Given the description of an element on the screen output the (x, y) to click on. 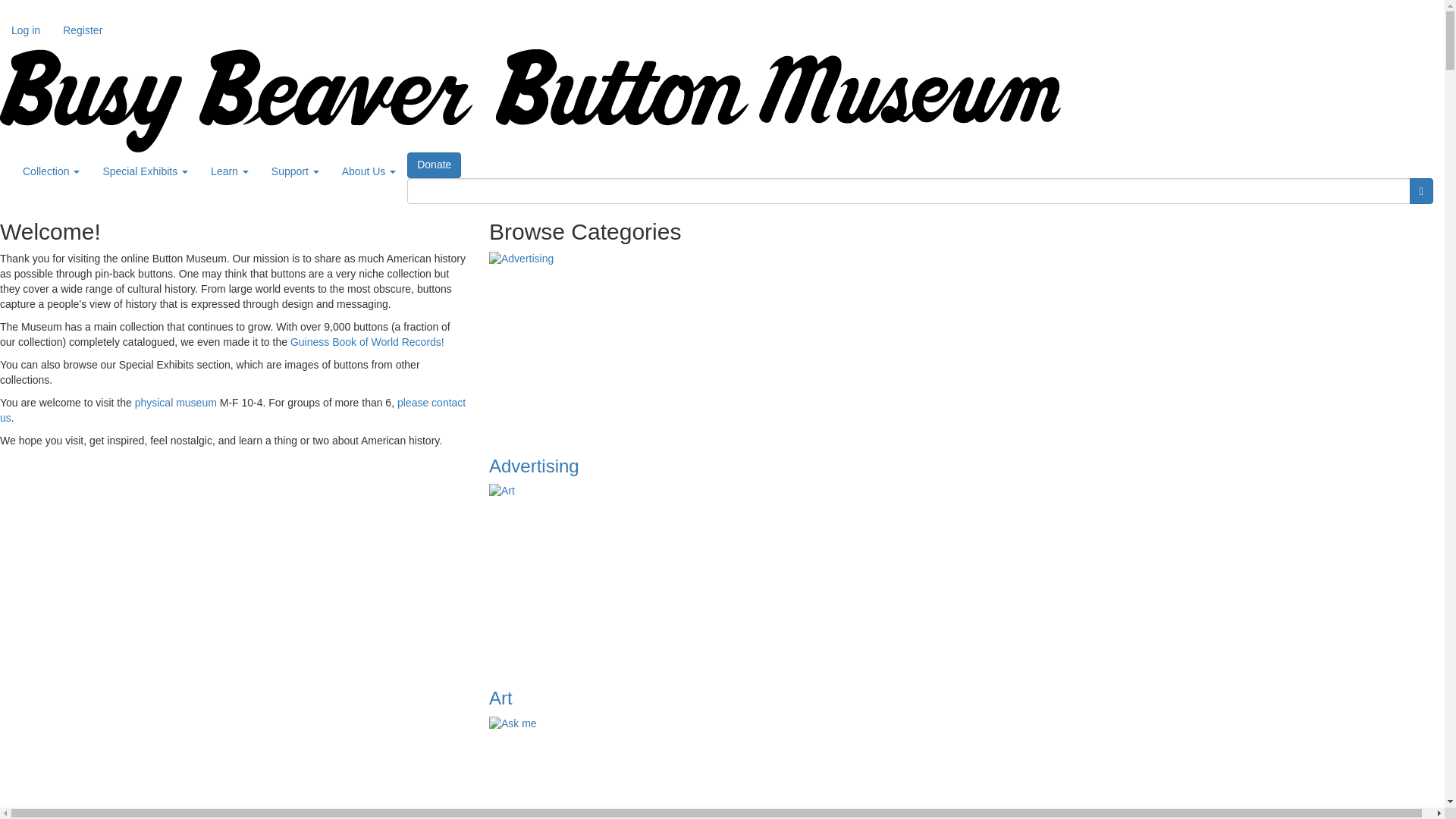
About Us (368, 171)
Log in (25, 30)
Ask Me (966, 767)
Home (530, 100)
Collection (50, 171)
Learn (229, 171)
Guiness Book of World Records! (366, 341)
Donate (434, 165)
Special Exhibits (144, 171)
Search (1420, 190)
Register (81, 30)
please contact us (232, 410)
